Given the description of an element on the screen output the (x, y) to click on. 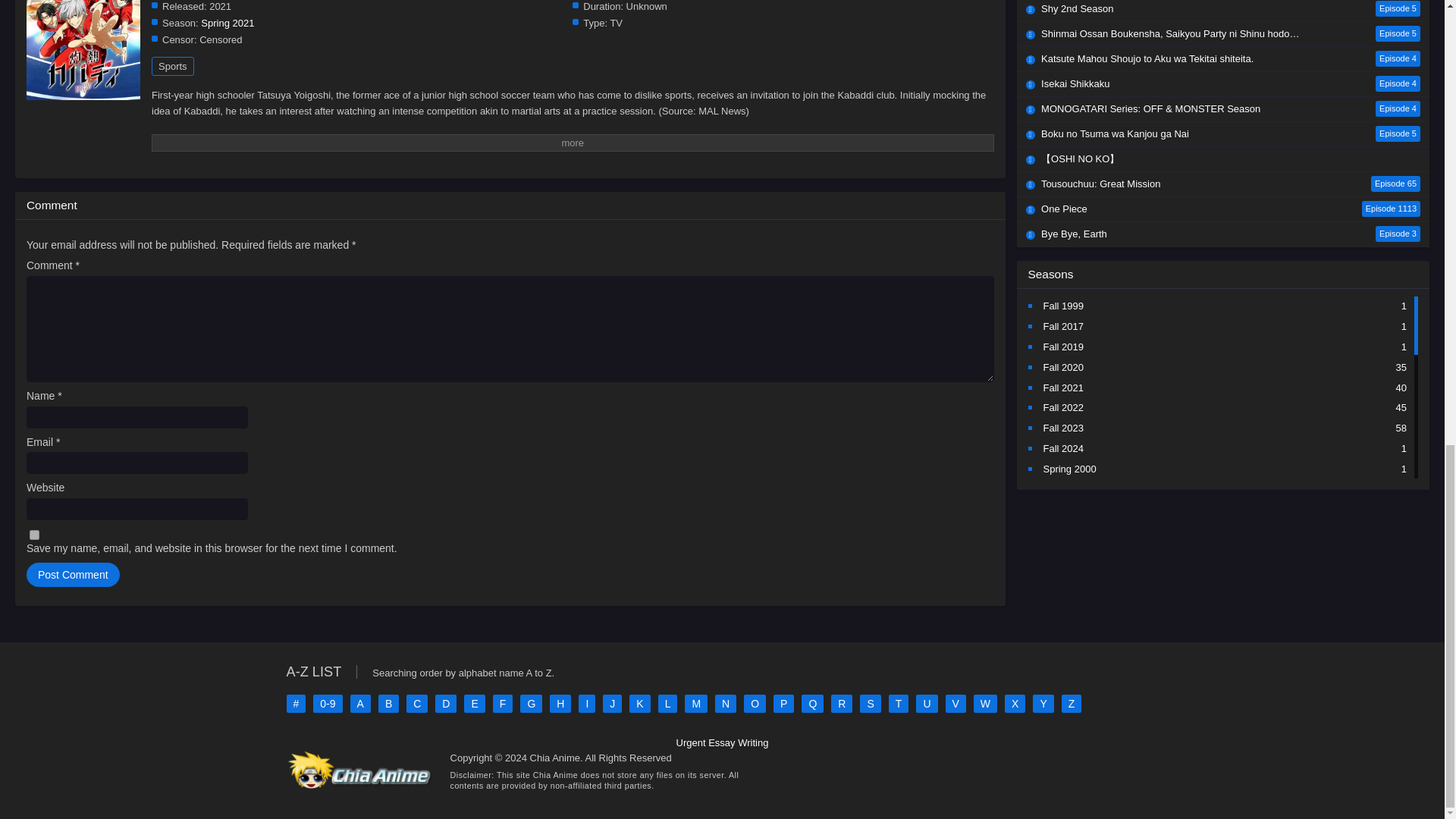
Sports (172, 66)
Post Comment (72, 574)
Spring 2021 (226, 22)
Post Comment (72, 574)
yes (34, 534)
